Given the description of an element on the screen output the (x, y) to click on. 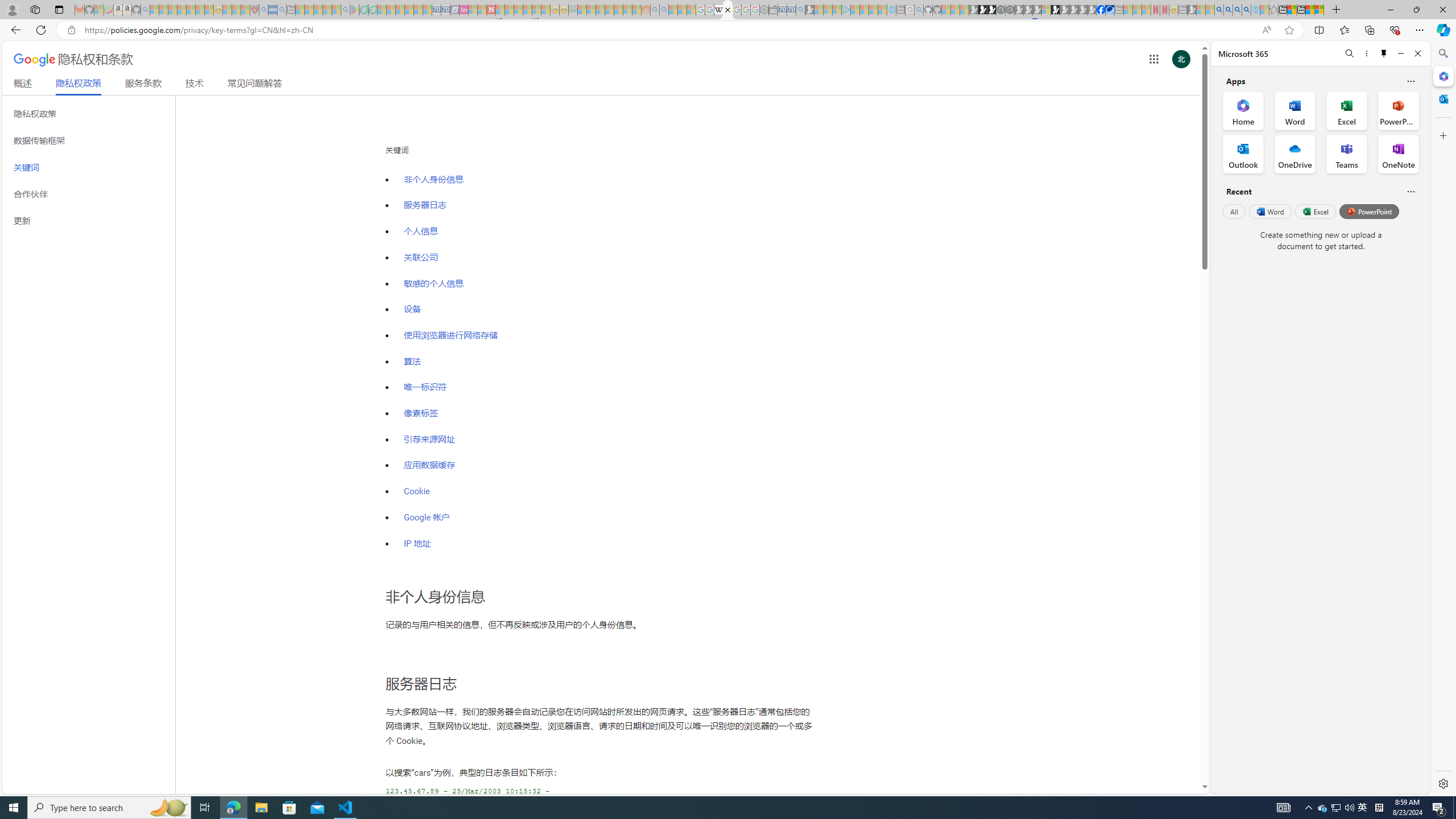
Excel Office App (1346, 110)
Aberdeen, Hong Kong SAR weather forecast | Microsoft Weather (1291, 9)
OneNote Office App (1398, 154)
Future Focus Report 2024 - Sleeping (1009, 9)
